Given the description of an element on the screen output the (x, y) to click on. 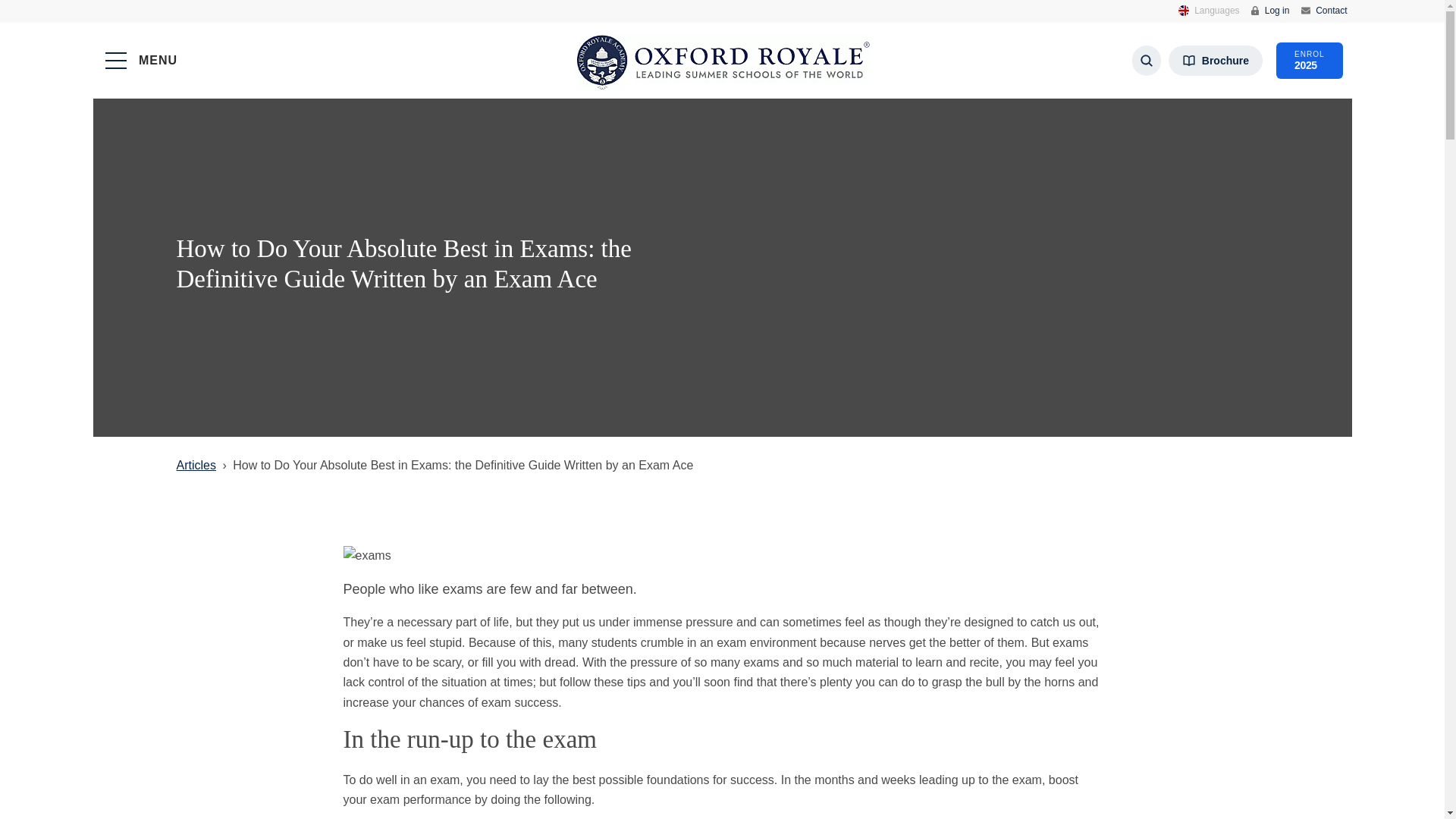
Languages (1208, 11)
Enrol for 2025 (1309, 60)
Brochure (1309, 60)
Contact (1215, 60)
Log in (1324, 9)
